Given the description of an element on the screen output the (x, y) to click on. 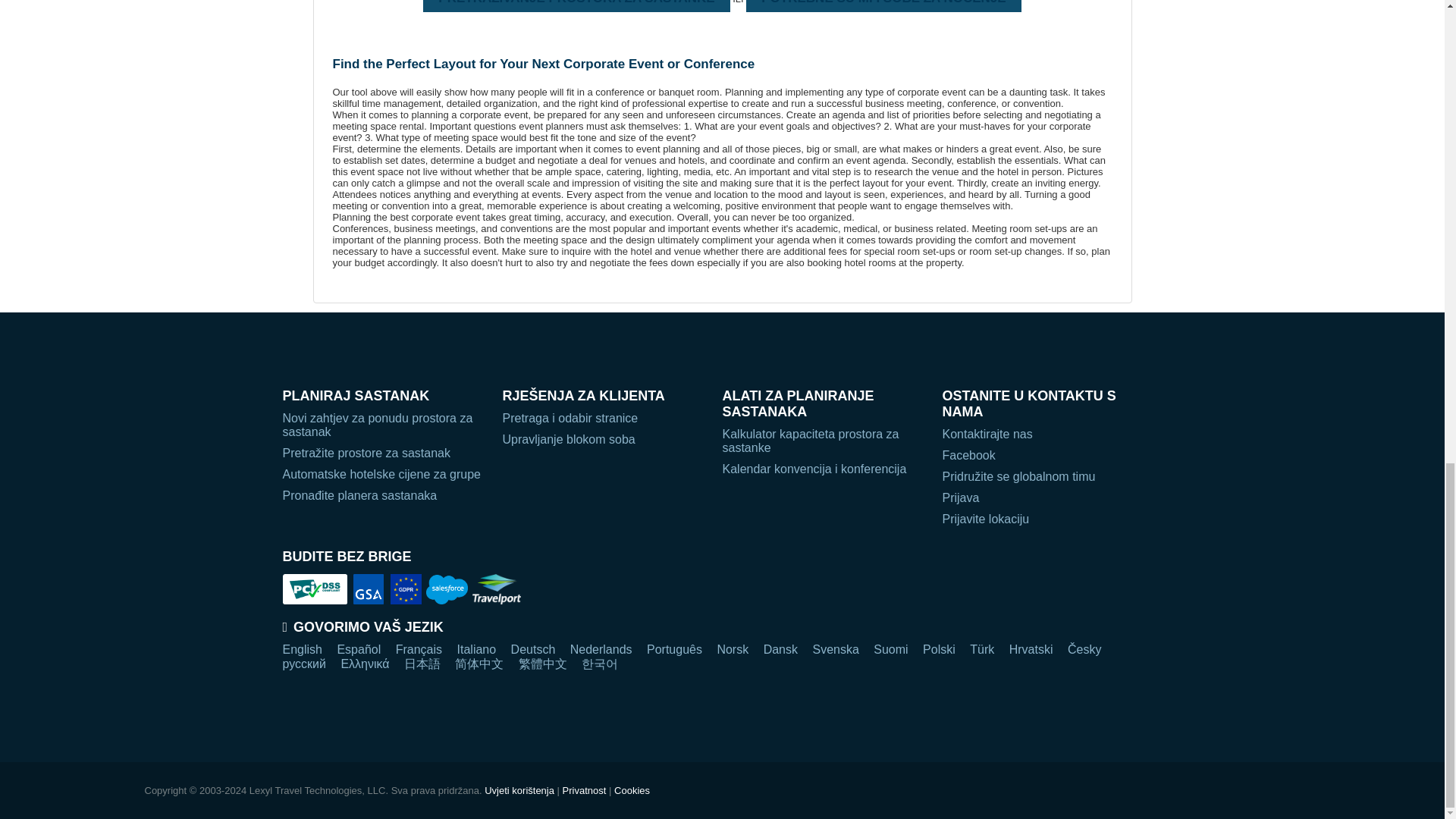
Italiano (476, 649)
Nederlands (600, 649)
Pretraga i odabir stranice (604, 418)
English (301, 649)
Norsk (732, 649)
Upravljanje blokom soba (604, 439)
Kalkulator kapaciteta prostora za sastanke (824, 441)
Prijavite lokaciju (1044, 519)
Novi zahtjev za ponudu prostora za sastanak (384, 424)
Dansk (779, 649)
Deutsch (533, 649)
Facebook (1044, 455)
Kontaktirajte nas (1044, 434)
Automatske hotelske cijene za grupe (384, 474)
Kalendar konvencija i konferencija (824, 468)
